Given the description of an element on the screen output the (x, y) to click on. 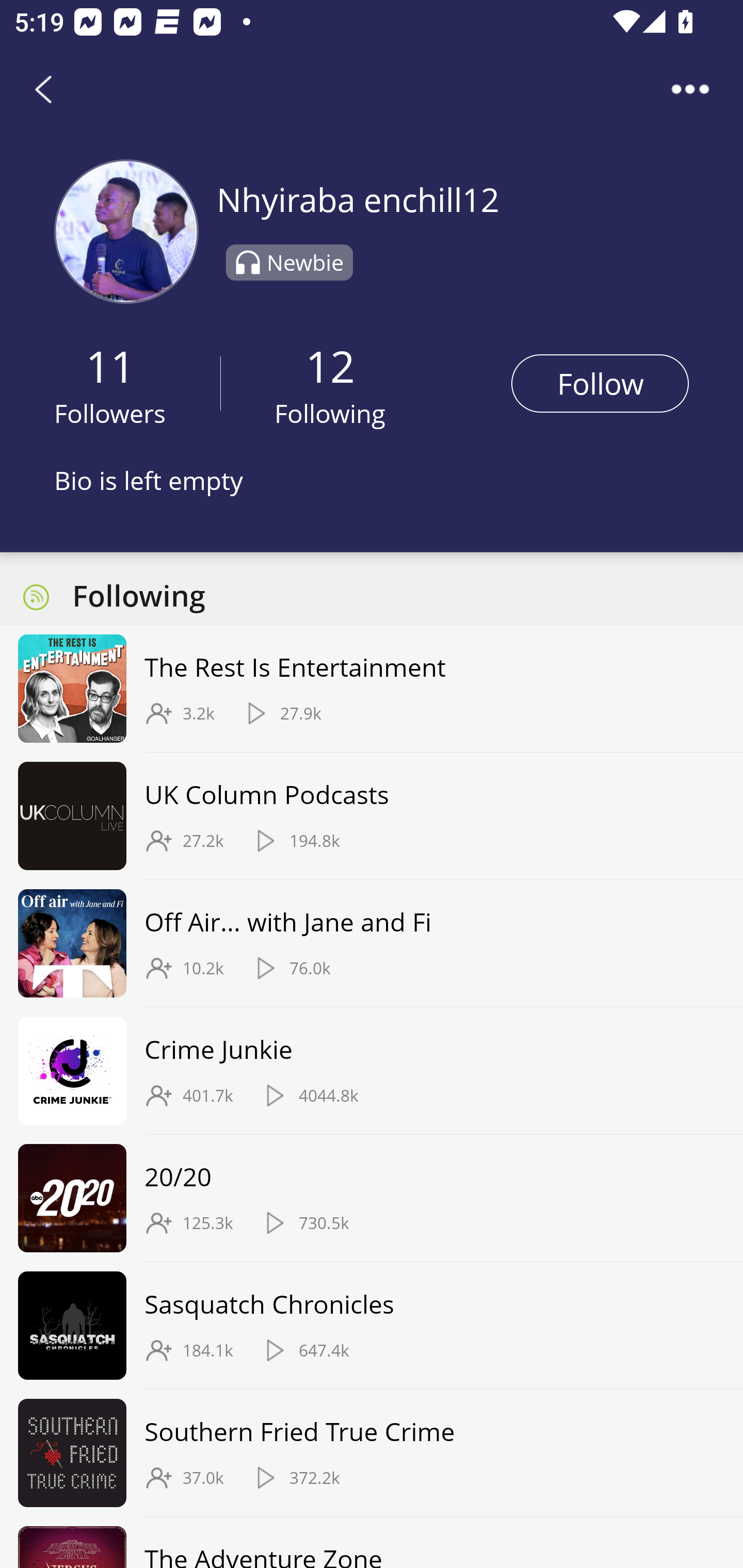
11 (110, 365)
12 (330, 365)
Follow (599, 383)
Followers (110, 413)
Following (329, 413)
The Rest Is Entertainment 3.2k 27.9k (371, 688)
UK Column Podcasts 27.2k 194.8k (371, 815)
Off Air... with Jane and Fi 10.2k 76.0k (371, 942)
Crime Junkie 401.7k 4044.8k (371, 1070)
20/20 125.3k 730.5k (371, 1198)
Sasquatch Chronicles 184.1k 647.4k (371, 1325)
Southern Fried True Crime 37.0k 372.2k (371, 1452)
